Given the description of an element on the screen output the (x, y) to click on. 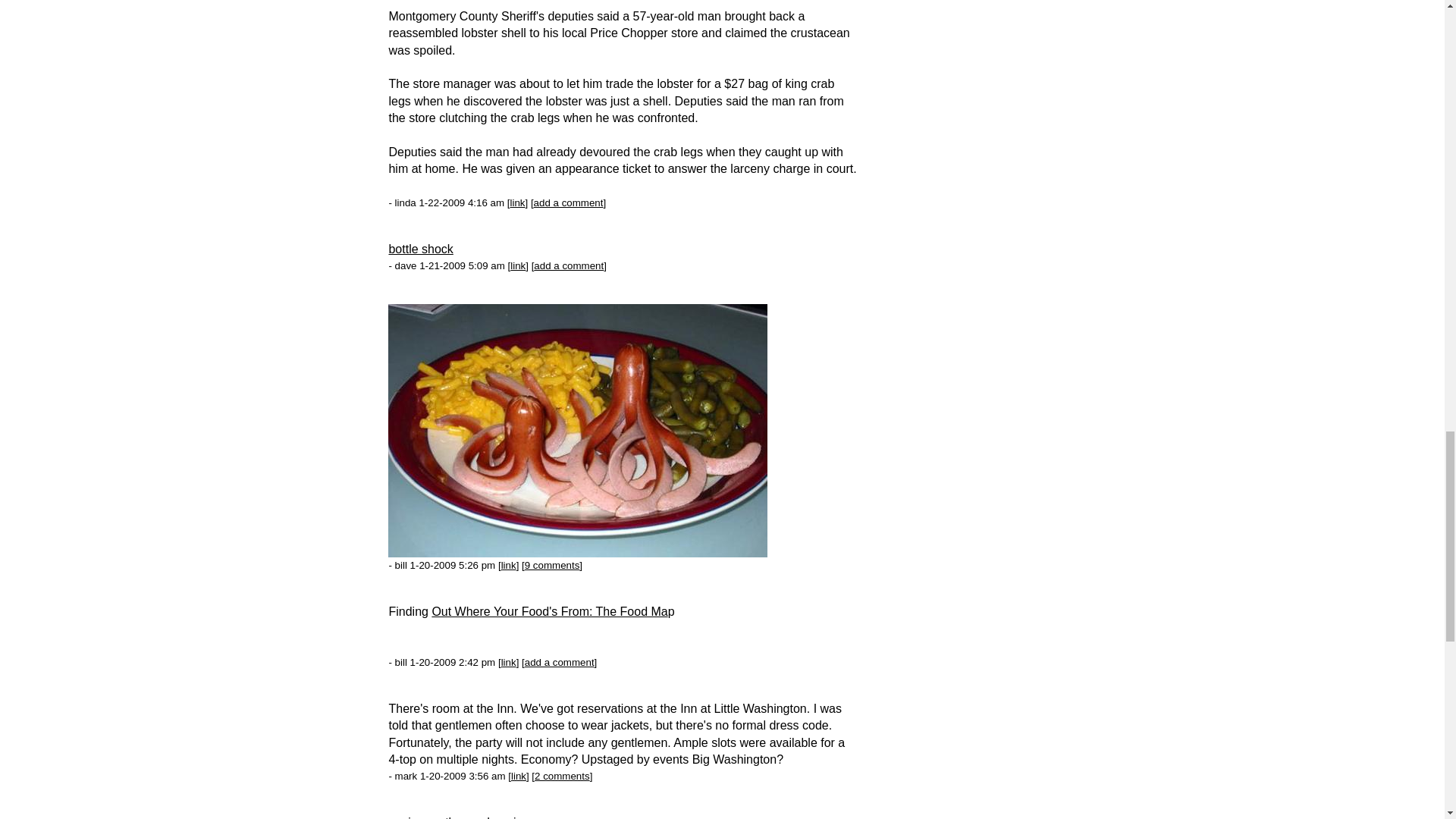
link (518, 265)
add a comment (569, 202)
link (516, 202)
bottle shock (420, 248)
